Given the description of an element on the screen output the (x, y) to click on. 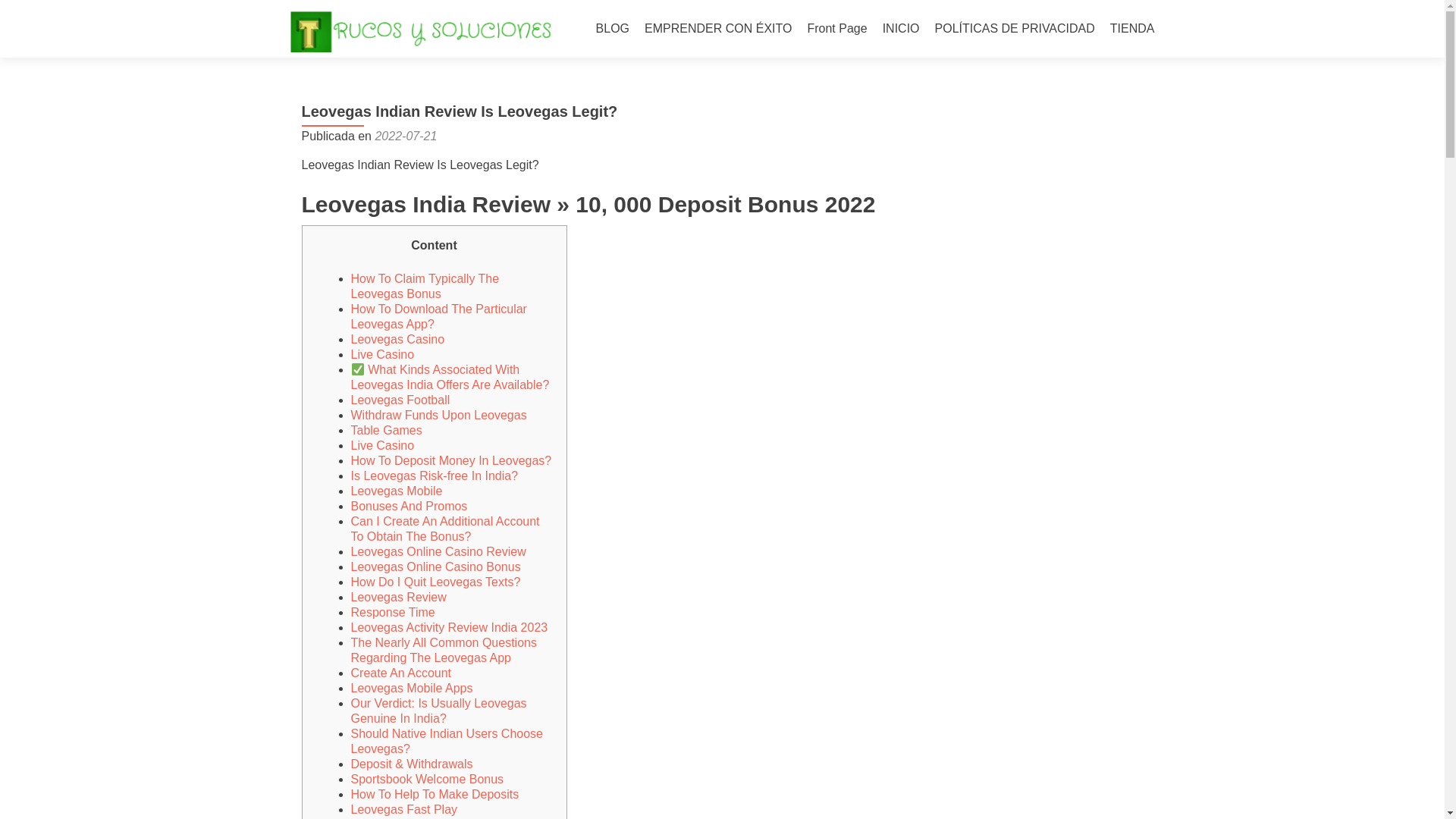
Leovegas Casino (397, 338)
How To Help To Make Deposits (434, 793)
Leovegas Review (397, 596)
INICIO (901, 28)
Live Casino (381, 445)
BLOG (611, 28)
Leovegas Fast Play (403, 809)
The Nearly All Common Questions Regarding The Leovegas App (442, 650)
Leovegas Football (399, 399)
Leovegas Online Casino Review (437, 551)
